Given the description of an element on the screen output the (x, y) to click on. 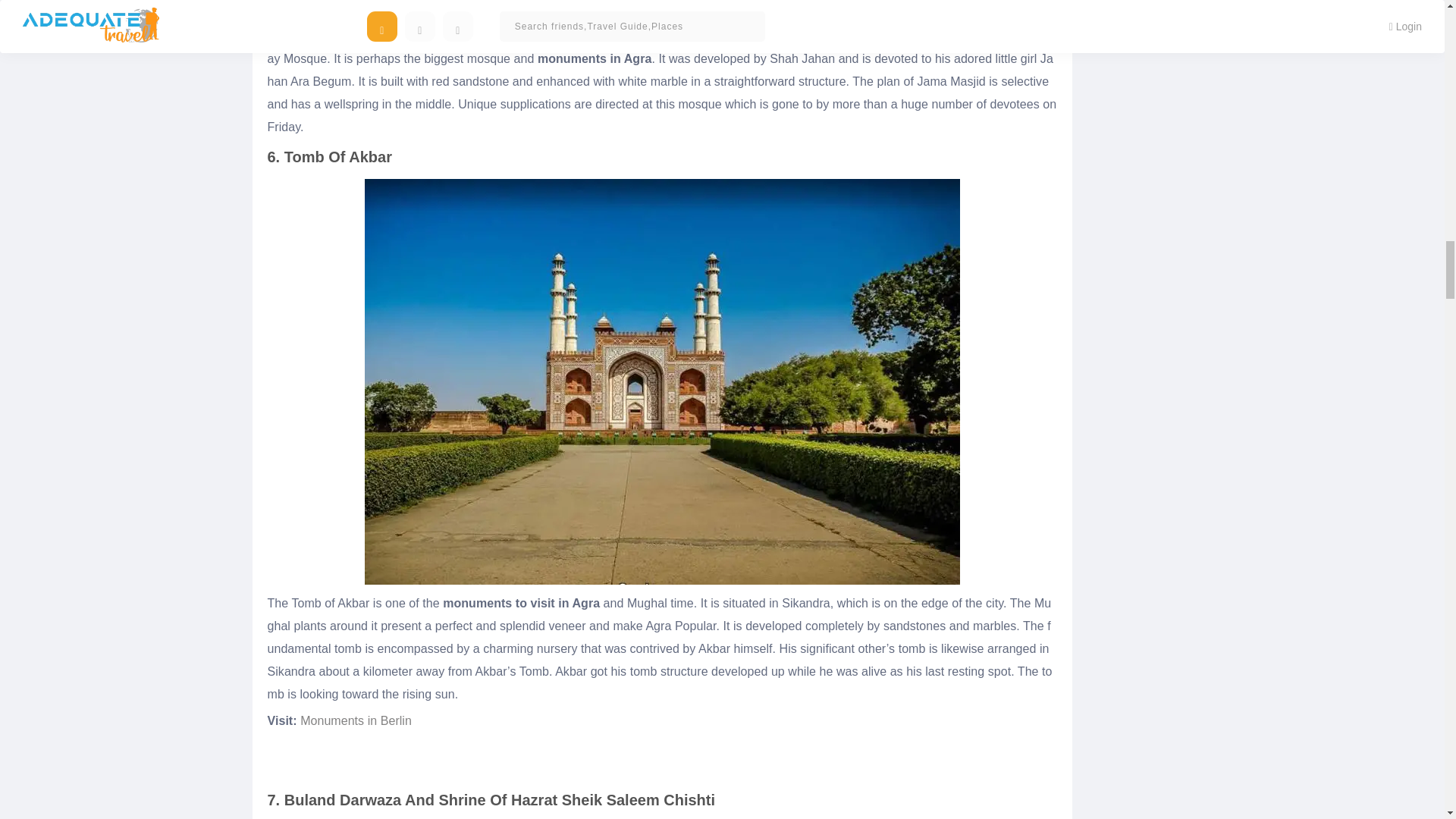
Monuments in Berlin (355, 720)
